Given the description of an element on the screen output the (x, y) to click on. 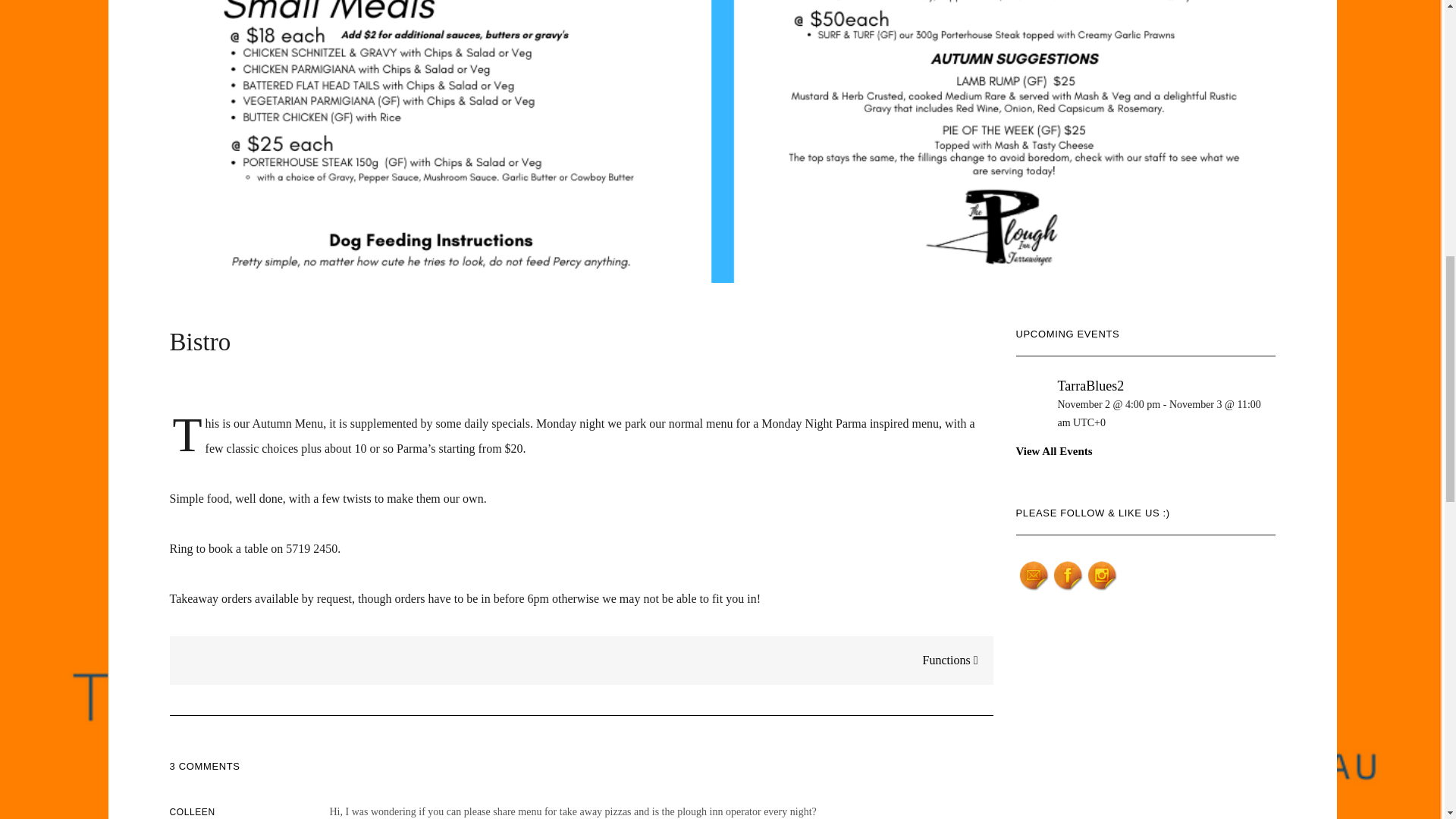
View All Events (1054, 451)
Instagram (1102, 576)
TarraBlues2 (1090, 385)
Facebook (1067, 576)
Functions (957, 660)
Follow by Email (1034, 576)
